Given the description of an element on the screen output the (x, y) to click on. 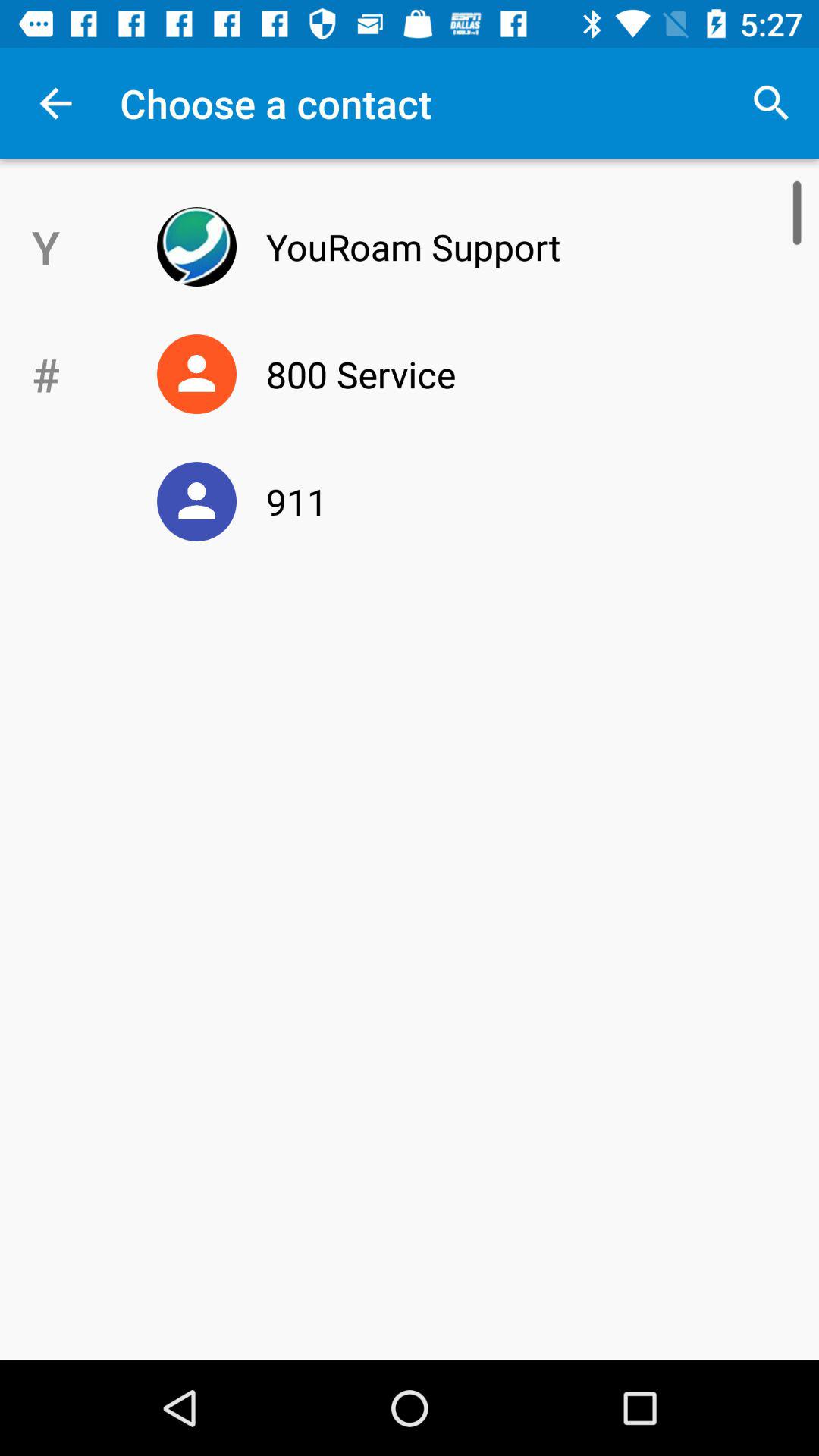
tap item above y item (55, 103)
